Given the description of an element on the screen output the (x, y) to click on. 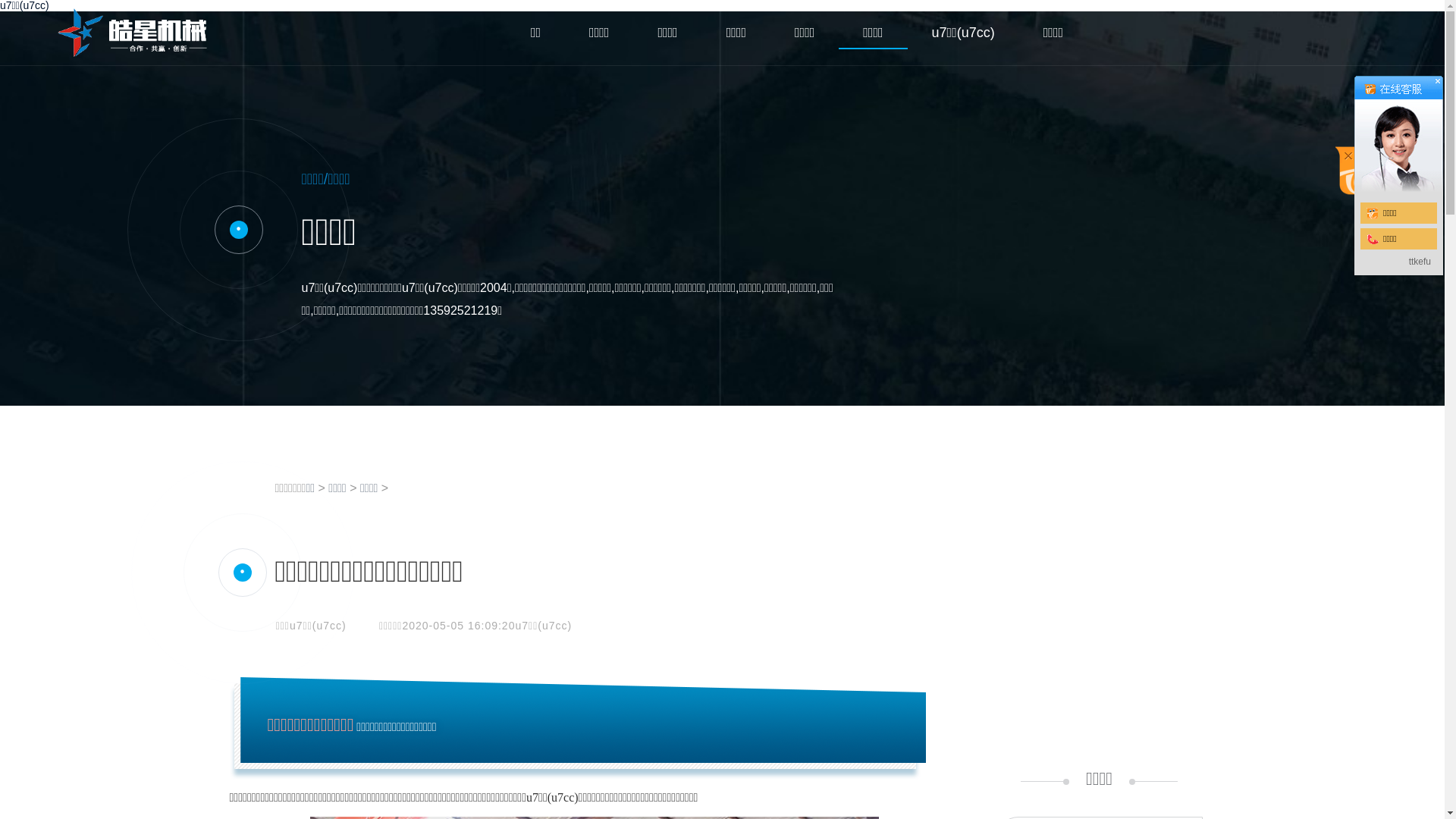
ttkefu Element type: text (1419, 261)
  Element type: text (1398, 133)
